Given the description of an element on the screen output the (x, y) to click on. 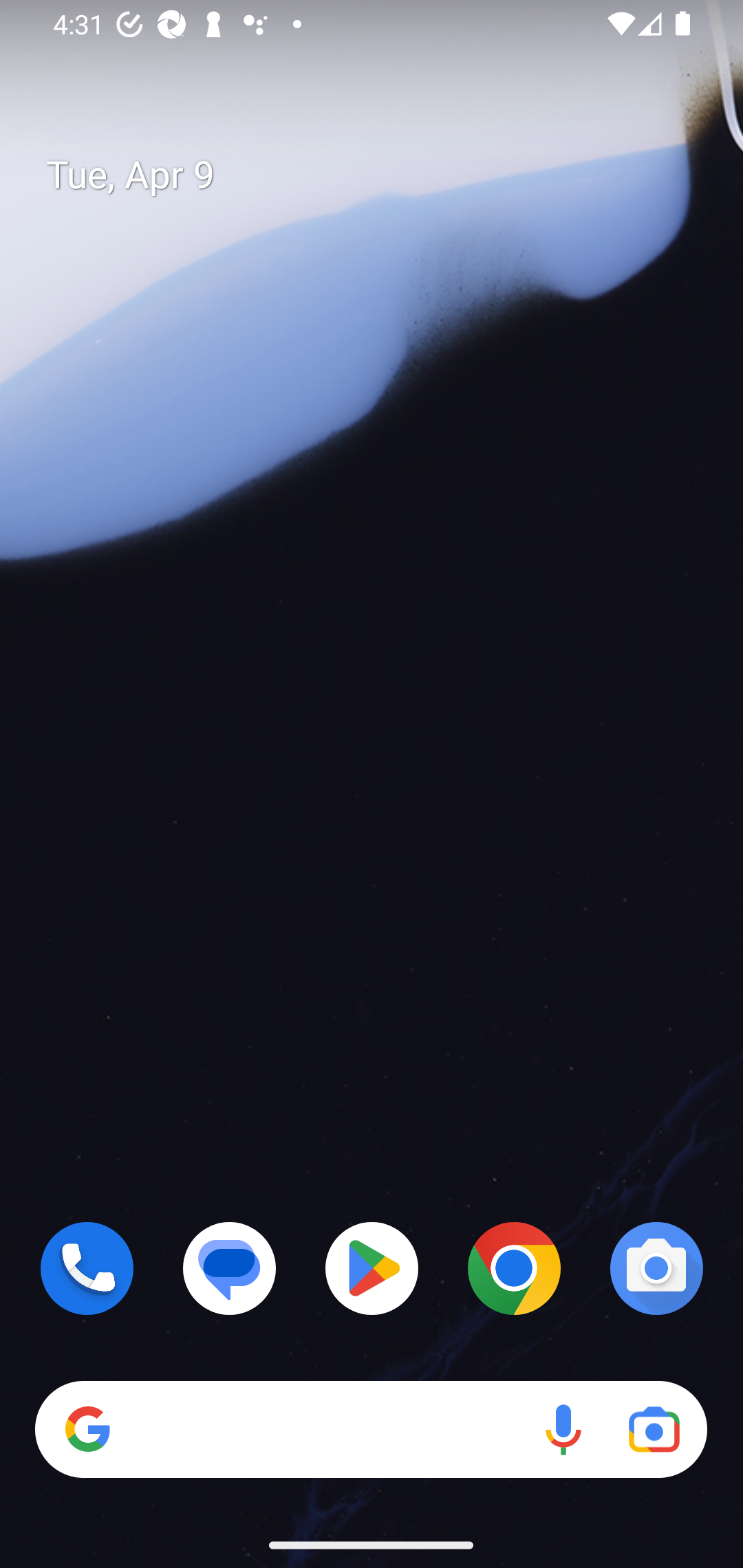
Tue, Apr 9 (386, 175)
Phone (86, 1268)
Messages (229, 1268)
Play Store (371, 1268)
Chrome (513, 1268)
Camera (656, 1268)
Voice search (562, 1429)
Google Lens (653, 1429)
